Given the description of an element on the screen output the (x, y) to click on. 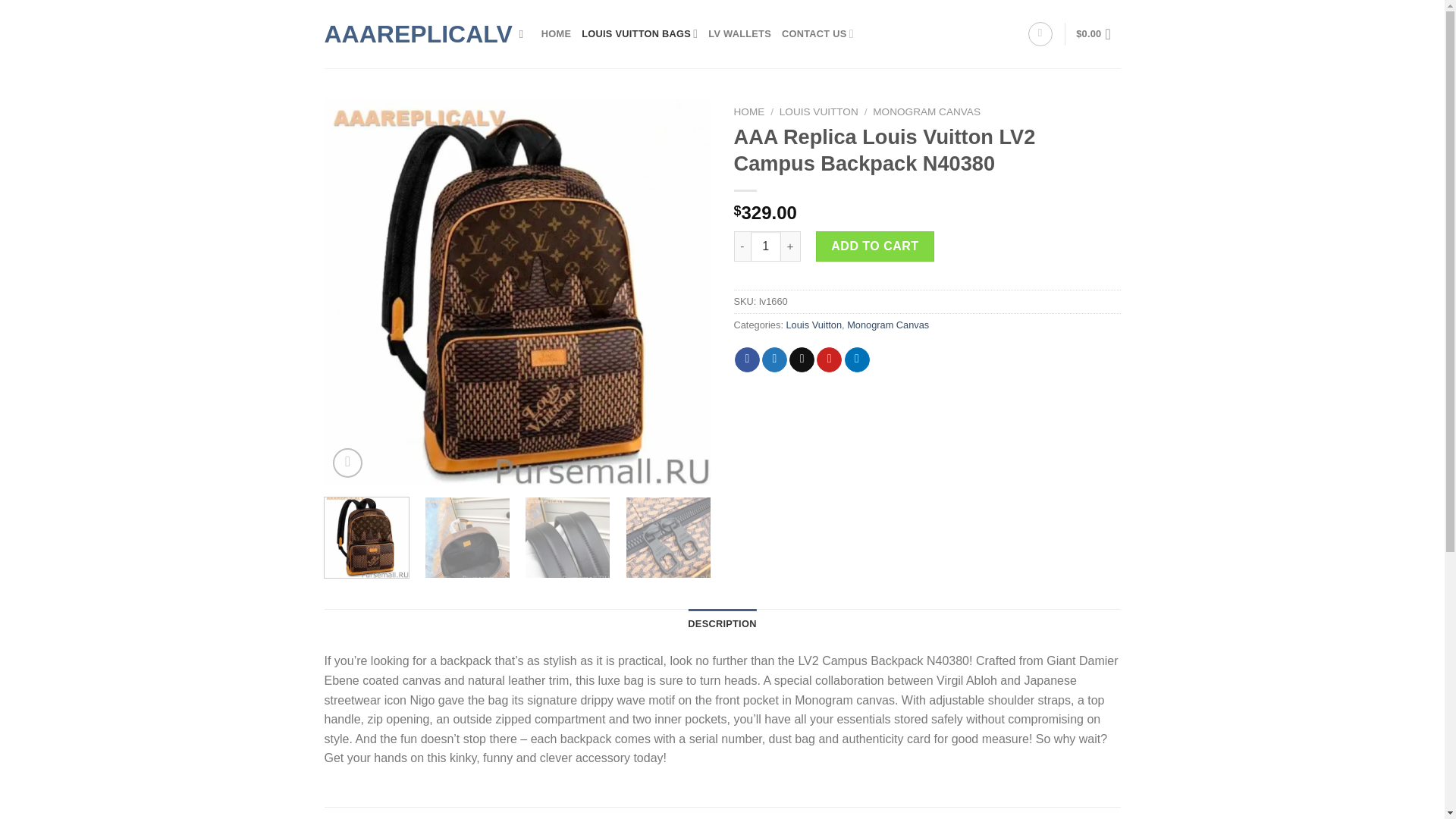
aaareplicalv - AAA Replica LV Handbags Supplier (410, 33)
Cart (1097, 33)
CONTACT US (817, 33)
LV WALLETS (739, 33)
HOME (555, 33)
LOUIS VUITTON BAGS (638, 33)
Zoom (347, 462)
AAAREPLICALV (410, 33)
1 (765, 245)
